Given the description of an element on the screen output the (x, y) to click on. 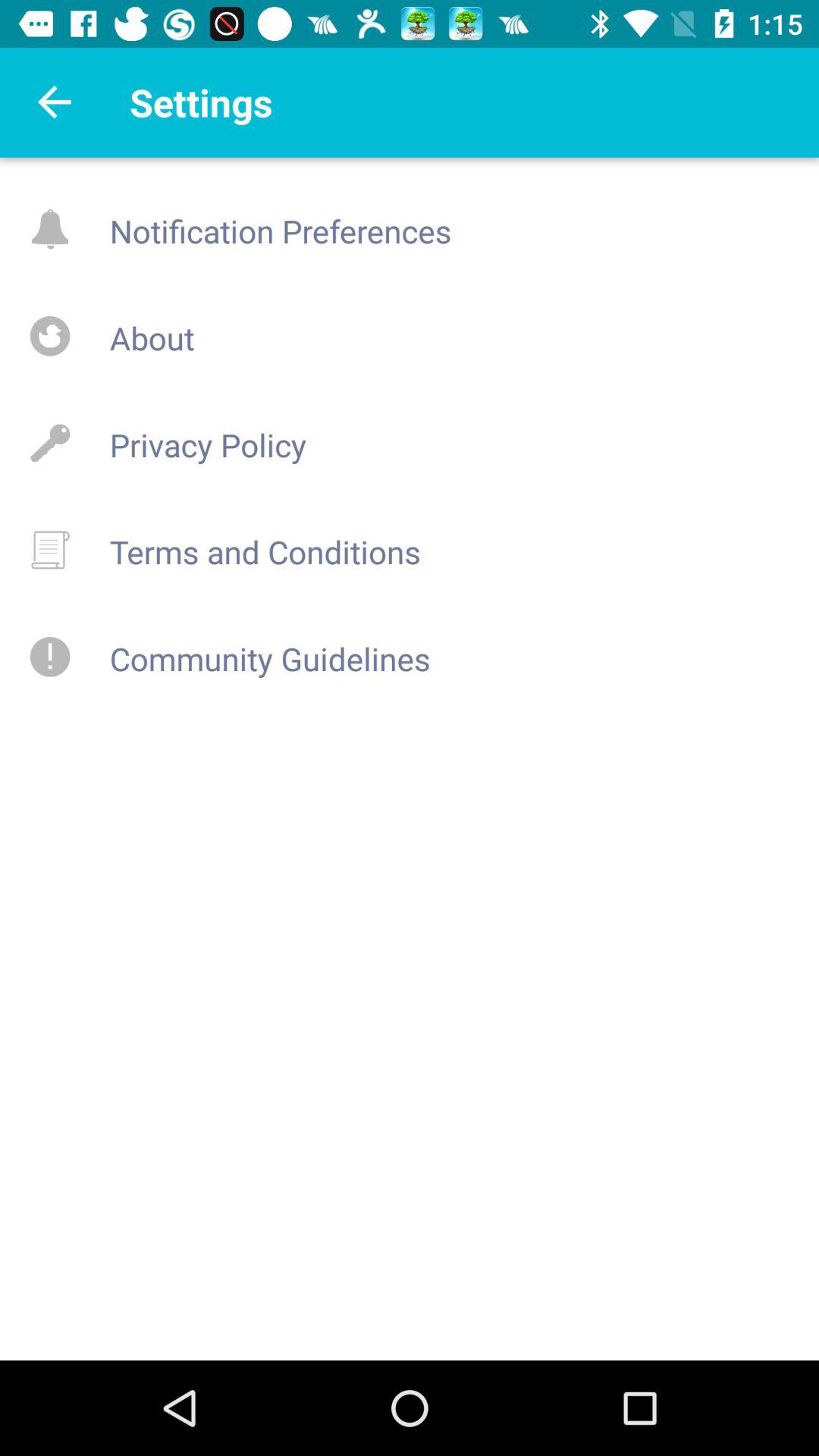
back (54, 102)
